Given the description of an element on the screen output the (x, y) to click on. 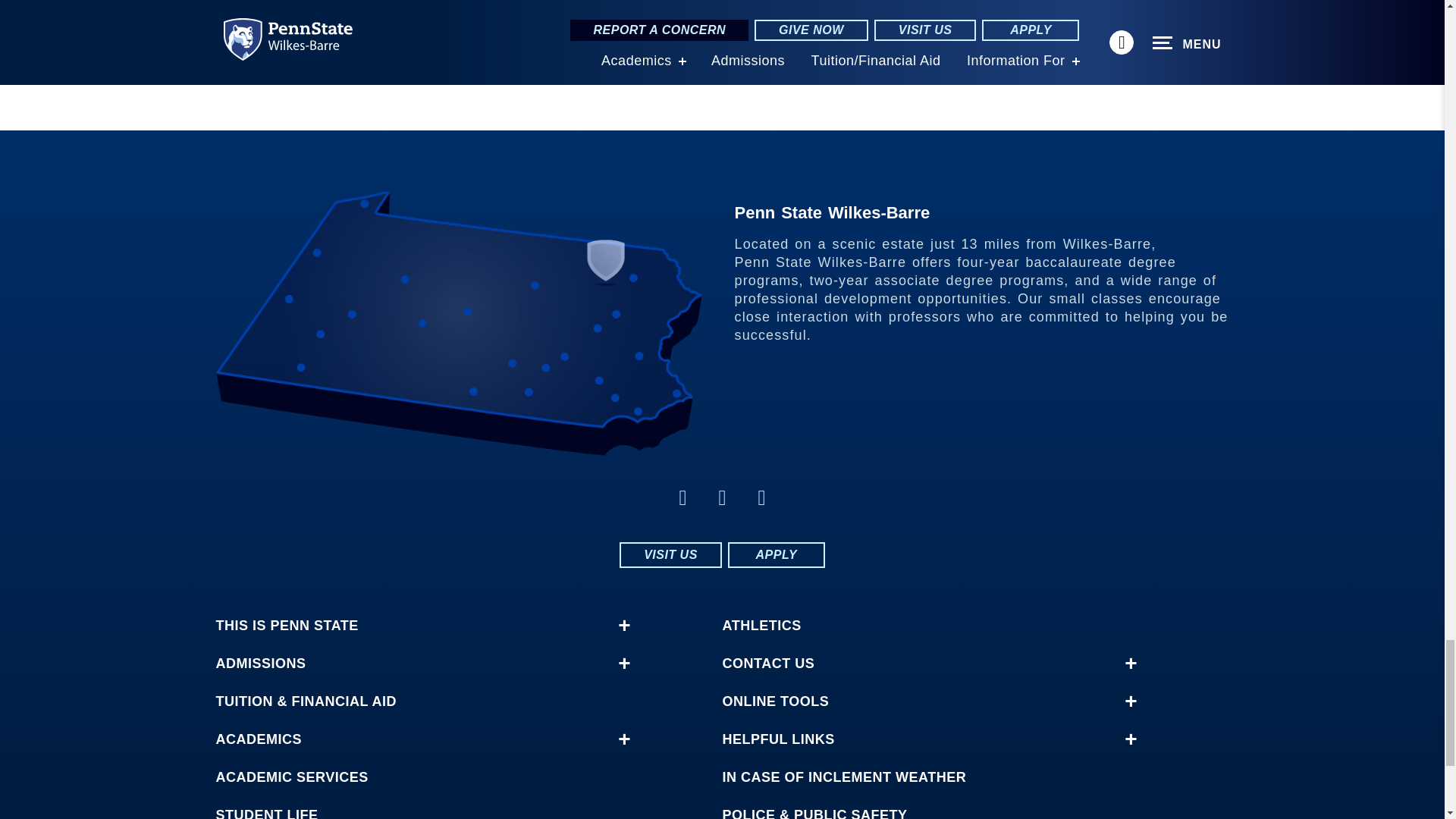
youtube (761, 497)
facebook (721, 497)
instagram (682, 497)
